Given the description of an element on the screen output the (x, y) to click on. 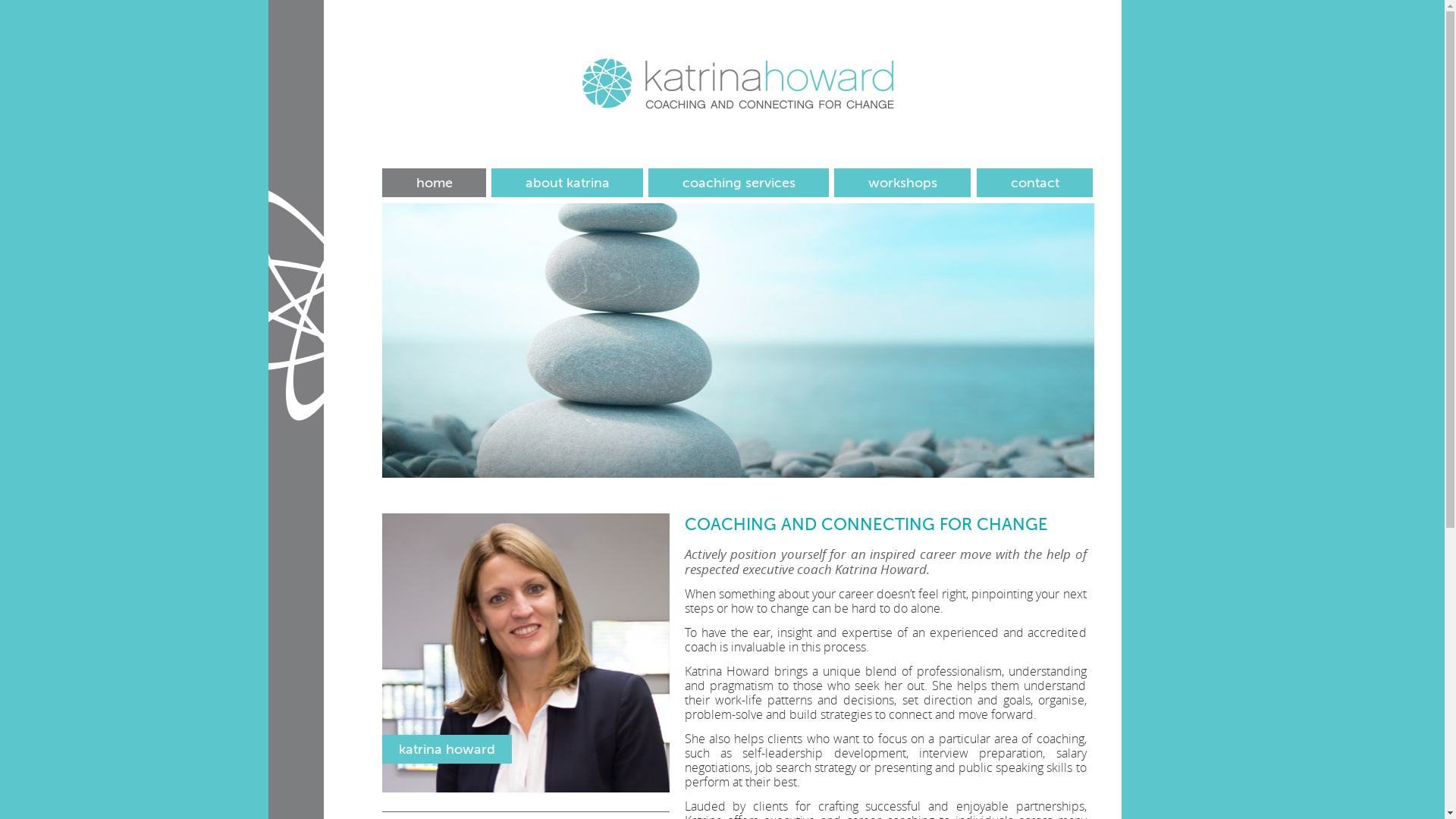
home Element type: text (434, 182)
coaching services Element type: text (738, 182)
contact Element type: text (1034, 182)
about katrina Element type: text (567, 182)
workshops Element type: text (902, 182)
